Given the description of an element on the screen output the (x, y) to click on. 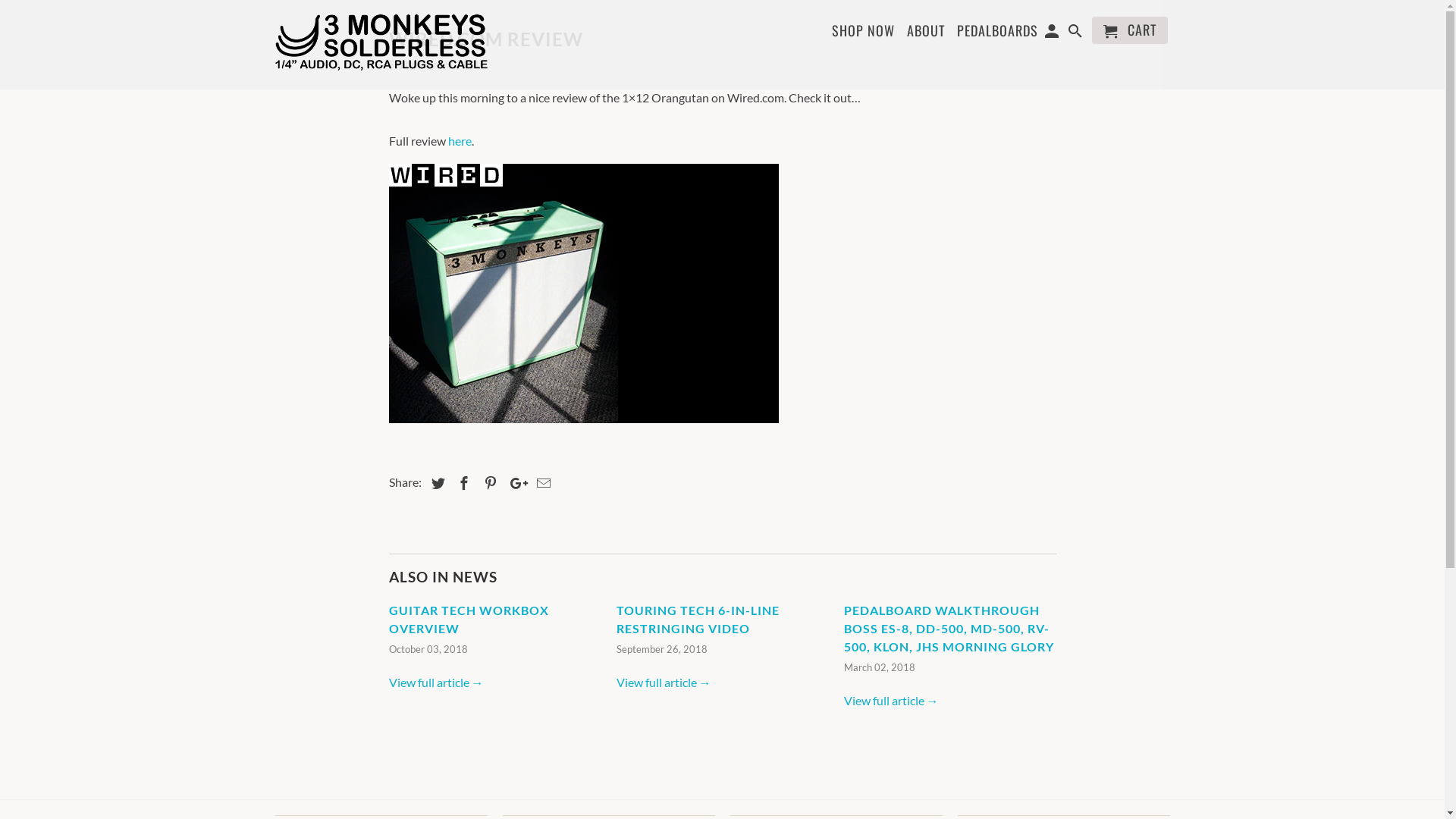
Share this on Pinterest Element type: hover (488, 482)
CART Element type: text (1129, 29)
3Monkeys Solderless Element type: hover (380, 40)
My Account  Element type: hover (1052, 32)
Share this on Twitter Element type: hover (435, 482)
Email this to a friend Element type: hover (541, 482)
TOURING TECH 6-IN-LINE RESTRINGING VIDEO Element type: text (696, 618)
PEDALBOARDS Element type: text (997, 32)
GUITAR TECH WORKBOX OVERVIEW Element type: text (468, 618)
ABOUT Element type: text (925, 28)
Search Element type: hover (1076, 32)
SHOP NOW Element type: text (862, 32)
Share this on Facebook Element type: hover (461, 482)
here Element type: text (458, 140)
Share this on Google+ Element type: hover (514, 482)
